Given the description of an element on the screen output the (x, y) to click on. 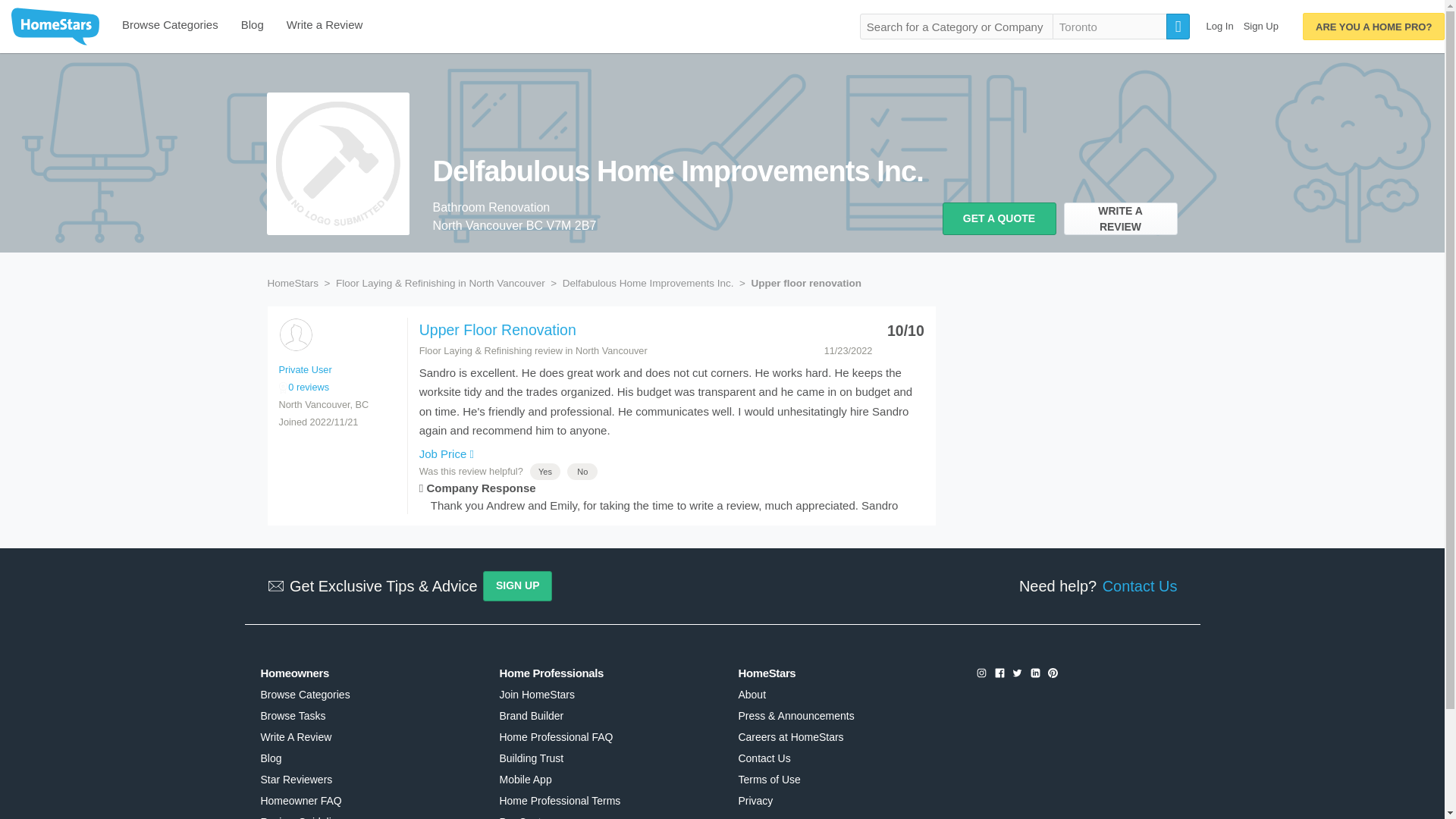
Delfabulous Home Improvements Inc.'s logo (337, 163)
0 reviews (304, 387)
No (582, 471)
Star Reviewers (295, 779)
Toronto (1109, 26)
Building Trust (531, 758)
Log In (1220, 25)
Home Professional FAQ (555, 736)
Delfabulous Home Improvements Inc. (687, 177)
